Given the description of an element on the screen output the (x, y) to click on. 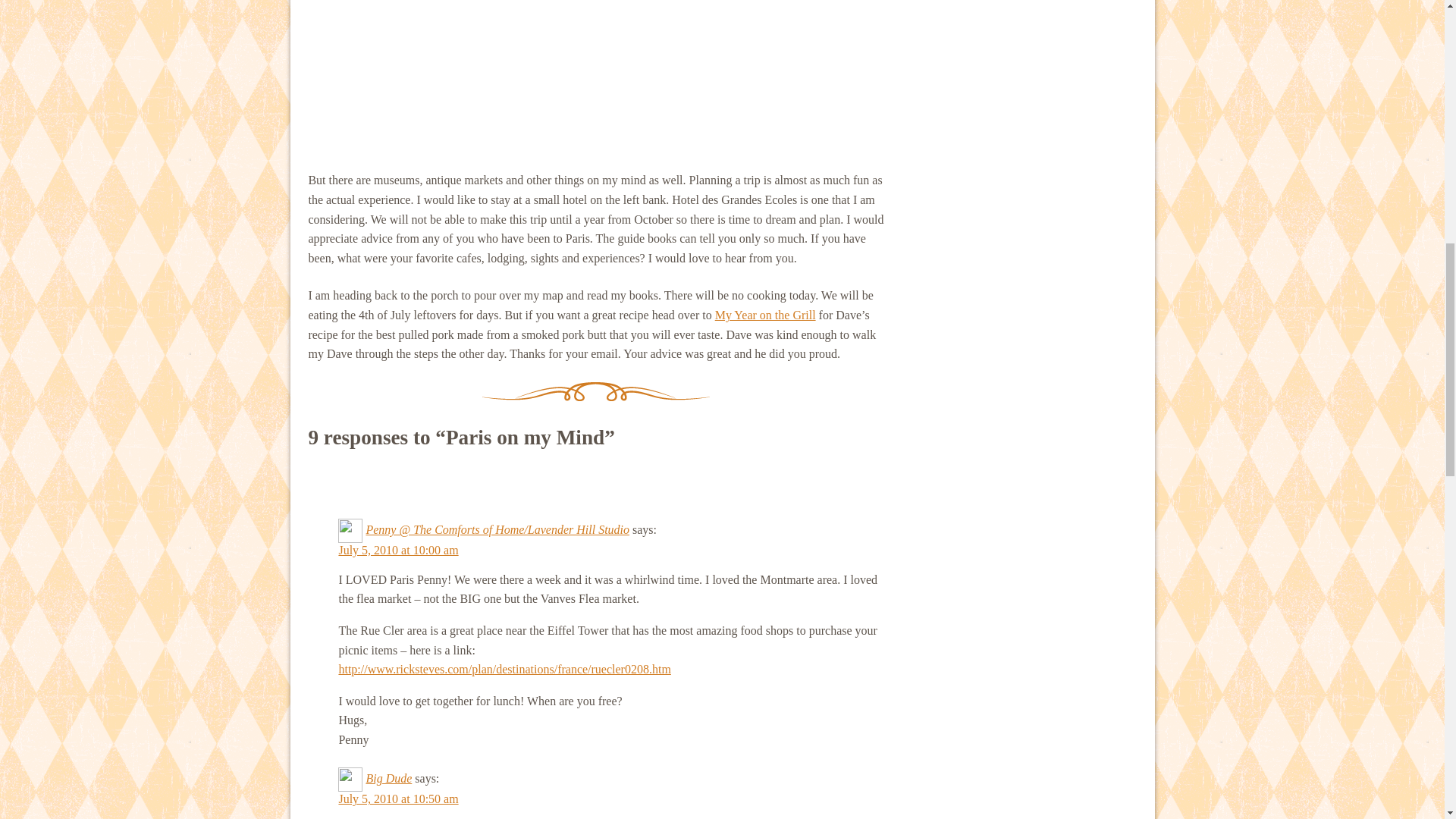
July 5, 2010 at 10:50 am (397, 798)
Big Dude (388, 778)
Advertisement (595, 76)
July 5, 2010 at 10:00 am (397, 549)
My Year on the Grill (764, 314)
